Given the description of an element on the screen output the (x, y) to click on. 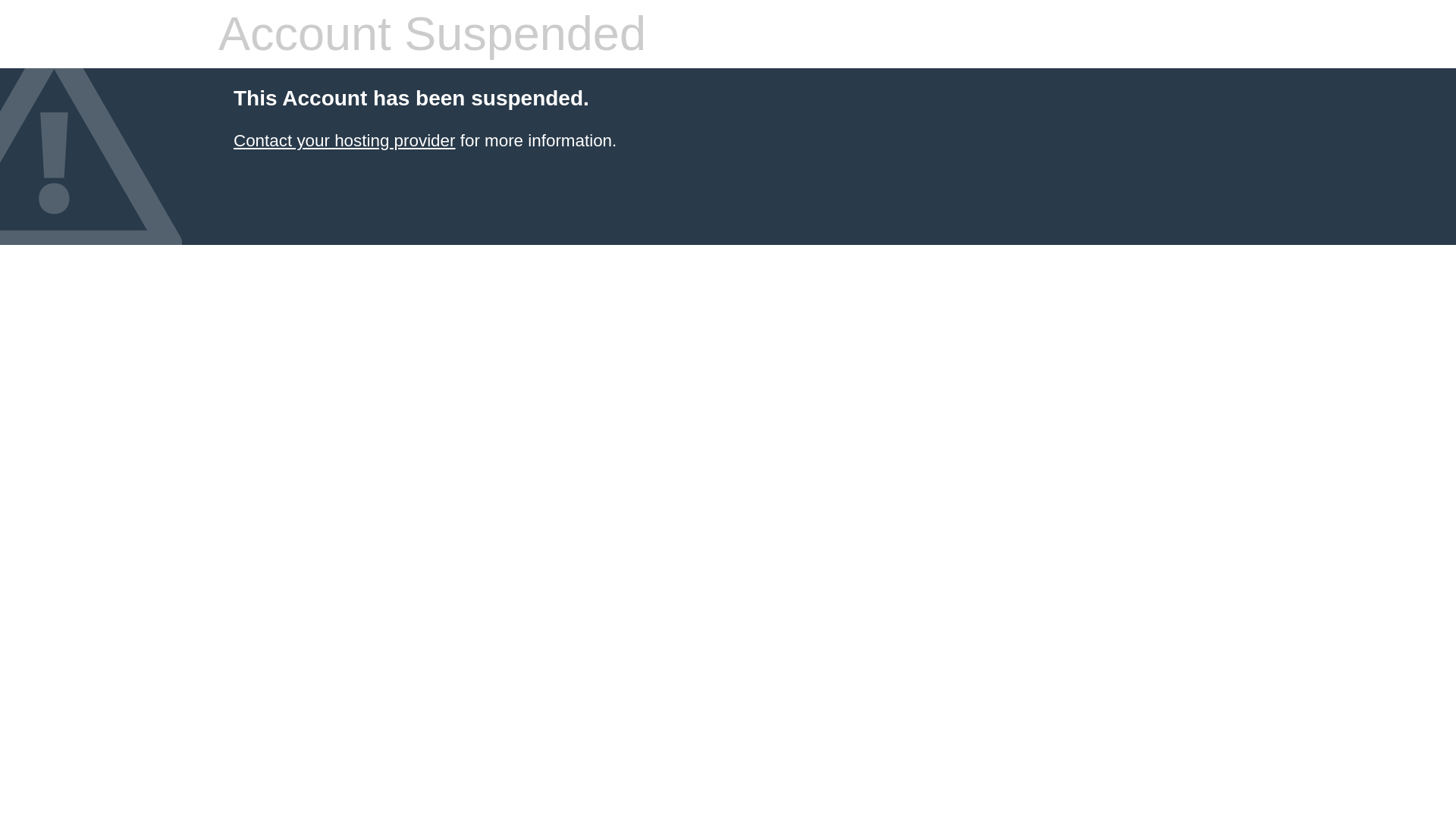
Contact your hosting provider (343, 140)
